Given the description of an element on the screen output the (x, y) to click on. 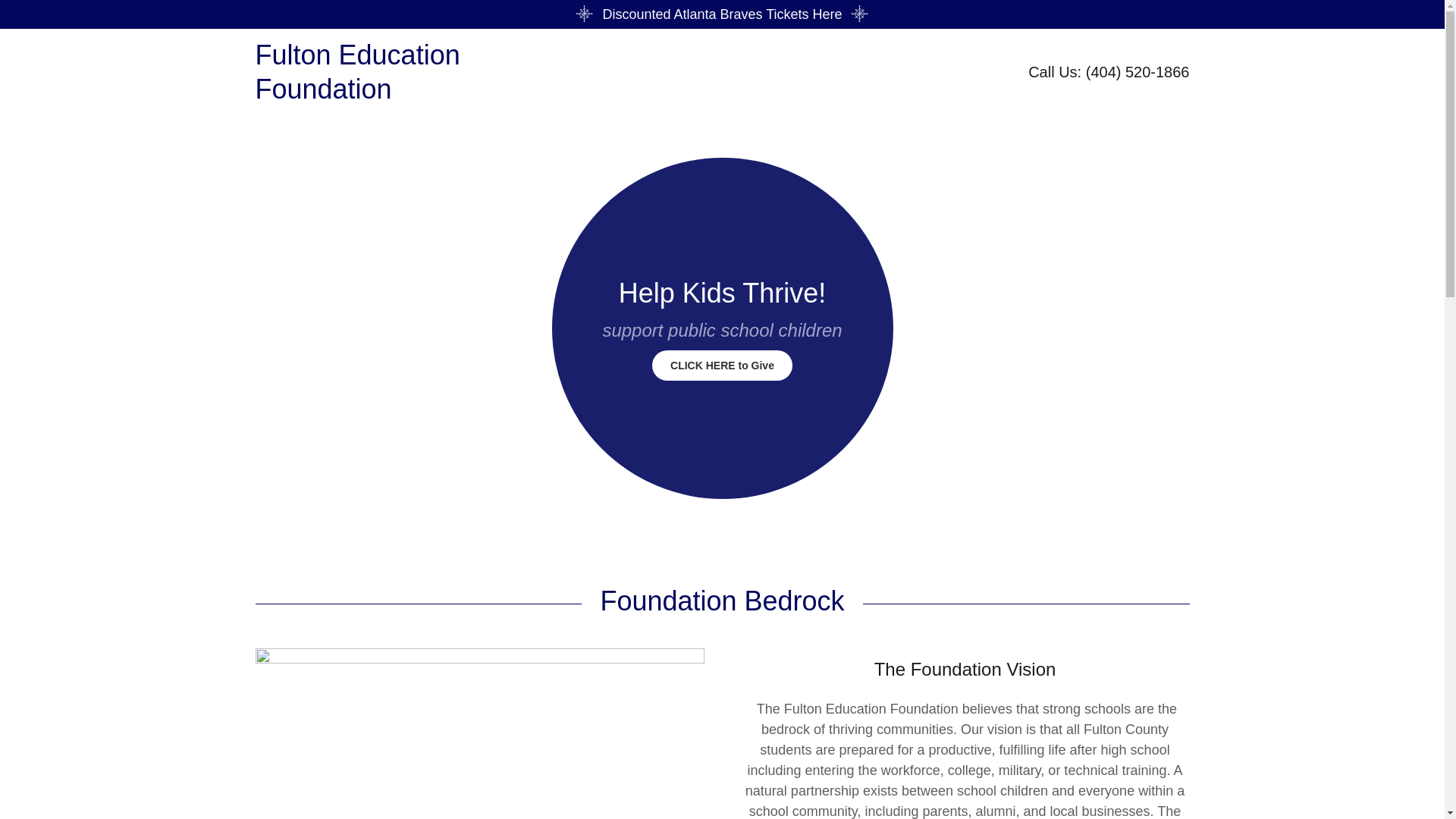
CLICK HERE to Give (722, 365)
Fulton Education Foundation (370, 93)
Fulton Education Foundation (370, 93)
